Given the description of an element on the screen output the (x, y) to click on. 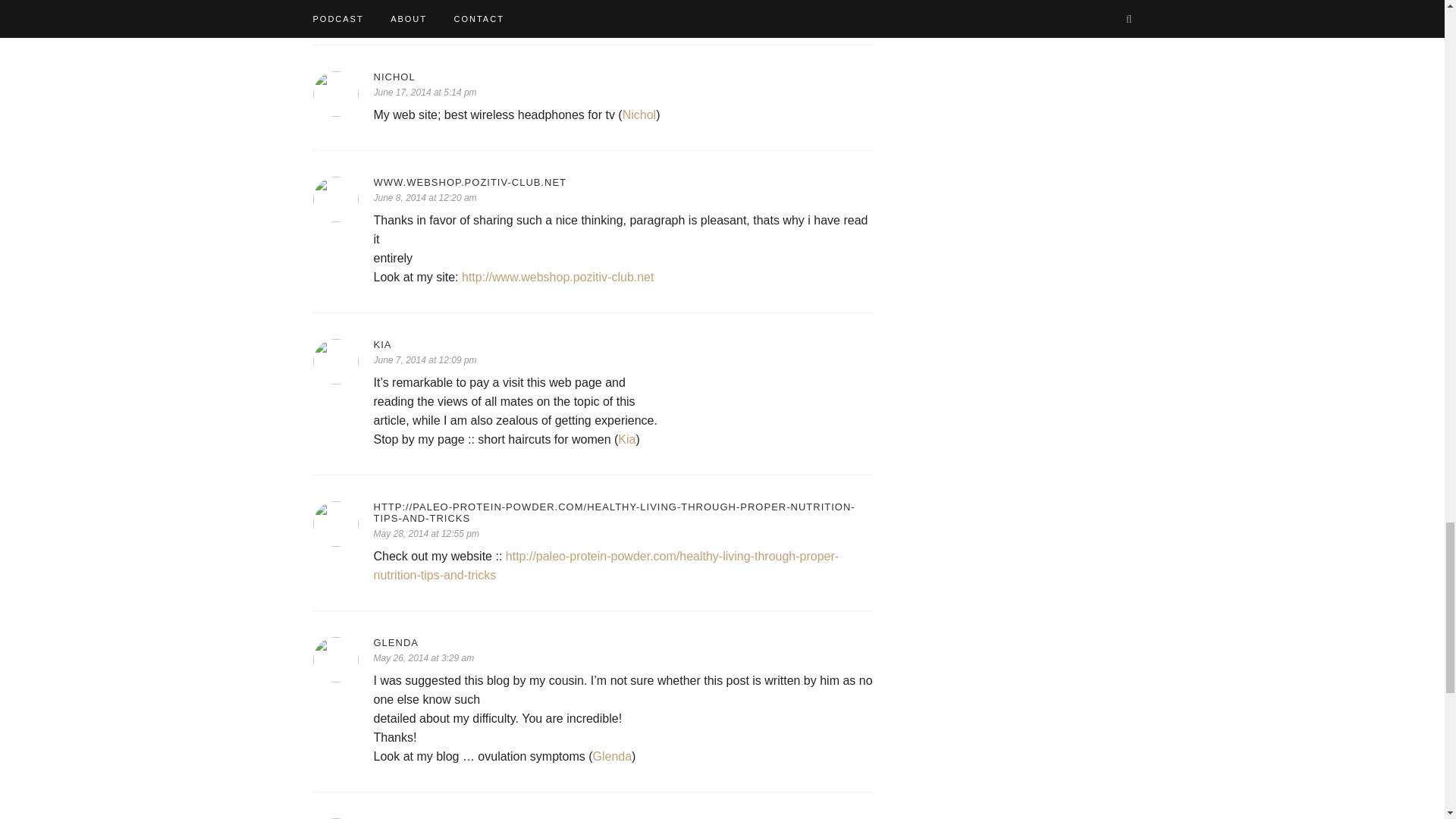
NICHOL (622, 76)
WWW.WEBSHOP.POZITIV-CLUB.NET (622, 182)
Nichol (639, 114)
